Given the description of an element on the screen output the (x, y) to click on. 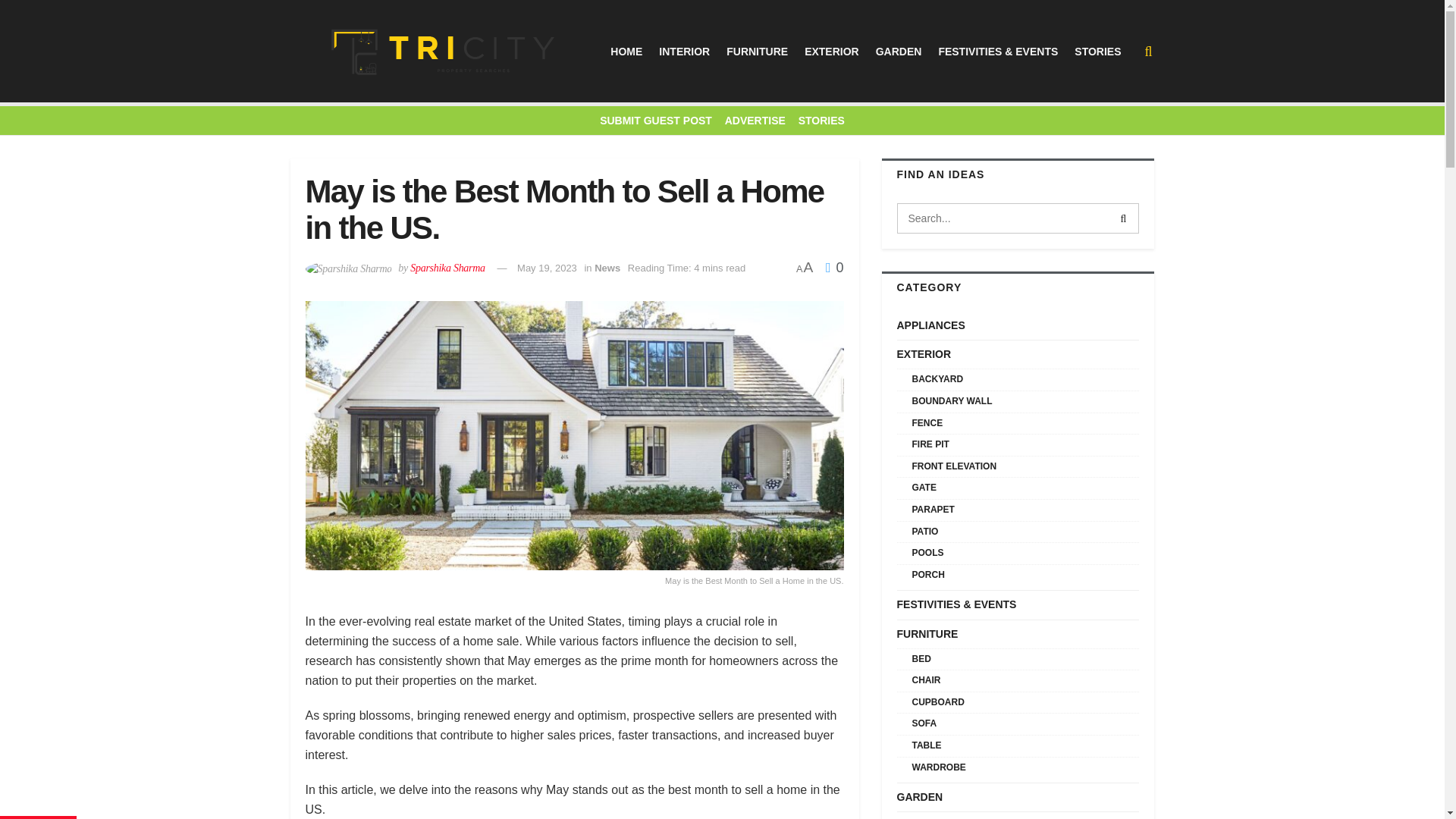
Sparshika Sharma (447, 267)
INTERIOR (684, 51)
STORIES (820, 120)
EXTERIOR (832, 51)
FURNITURE (756, 51)
GARDEN (898, 51)
ADVERTISE (755, 120)
STORIES (1097, 51)
HOME (626, 51)
SUBMIT GUEST POST (655, 120)
News (607, 267)
May 19, 2023 (546, 267)
